Given the description of an element on the screen output the (x, y) to click on. 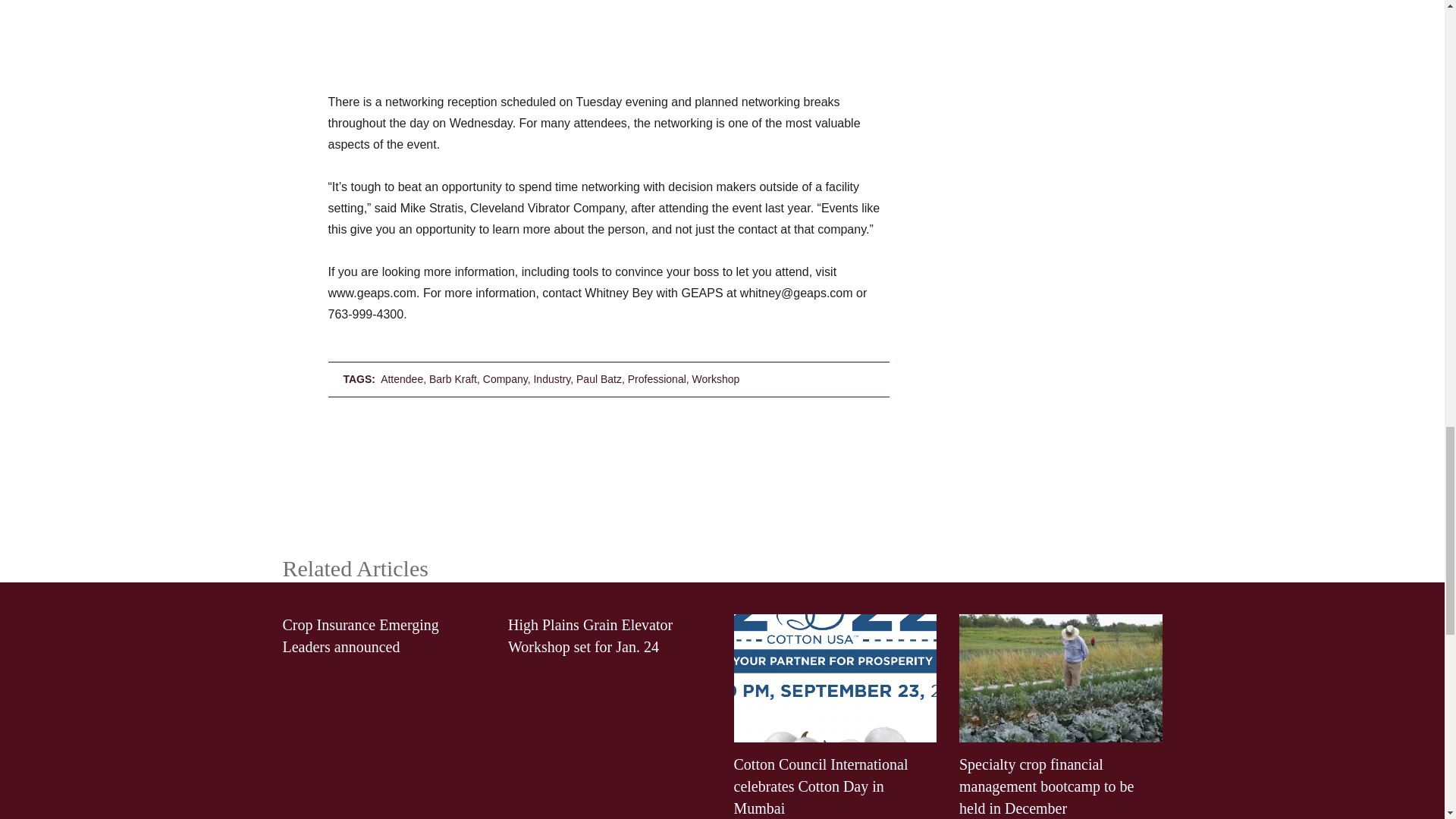
3rd party ad content (721, 468)
3rd party ad content (608, 29)
